Given the description of an element on the screen output the (x, y) to click on. 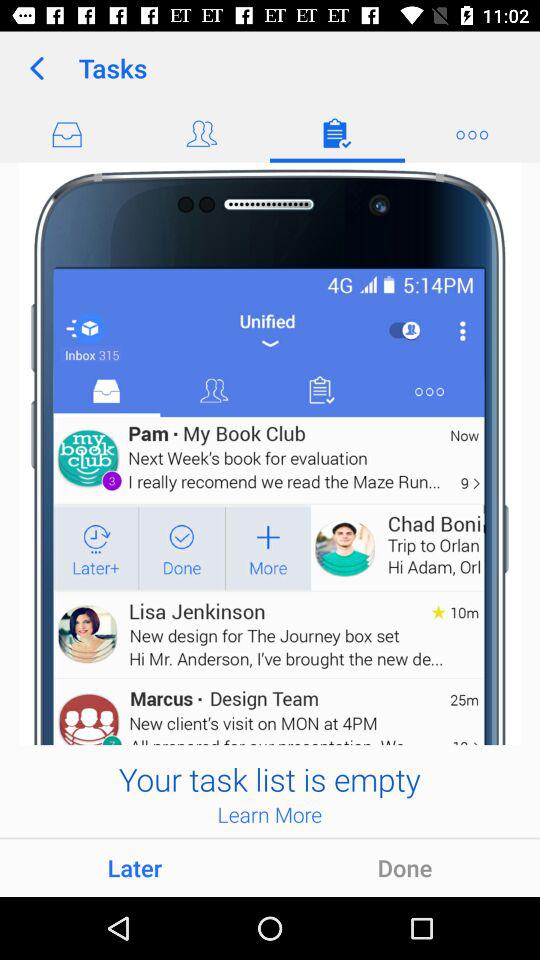
open the app below the your task list item (269, 814)
